Given the description of an element on the screen output the (x, y) to click on. 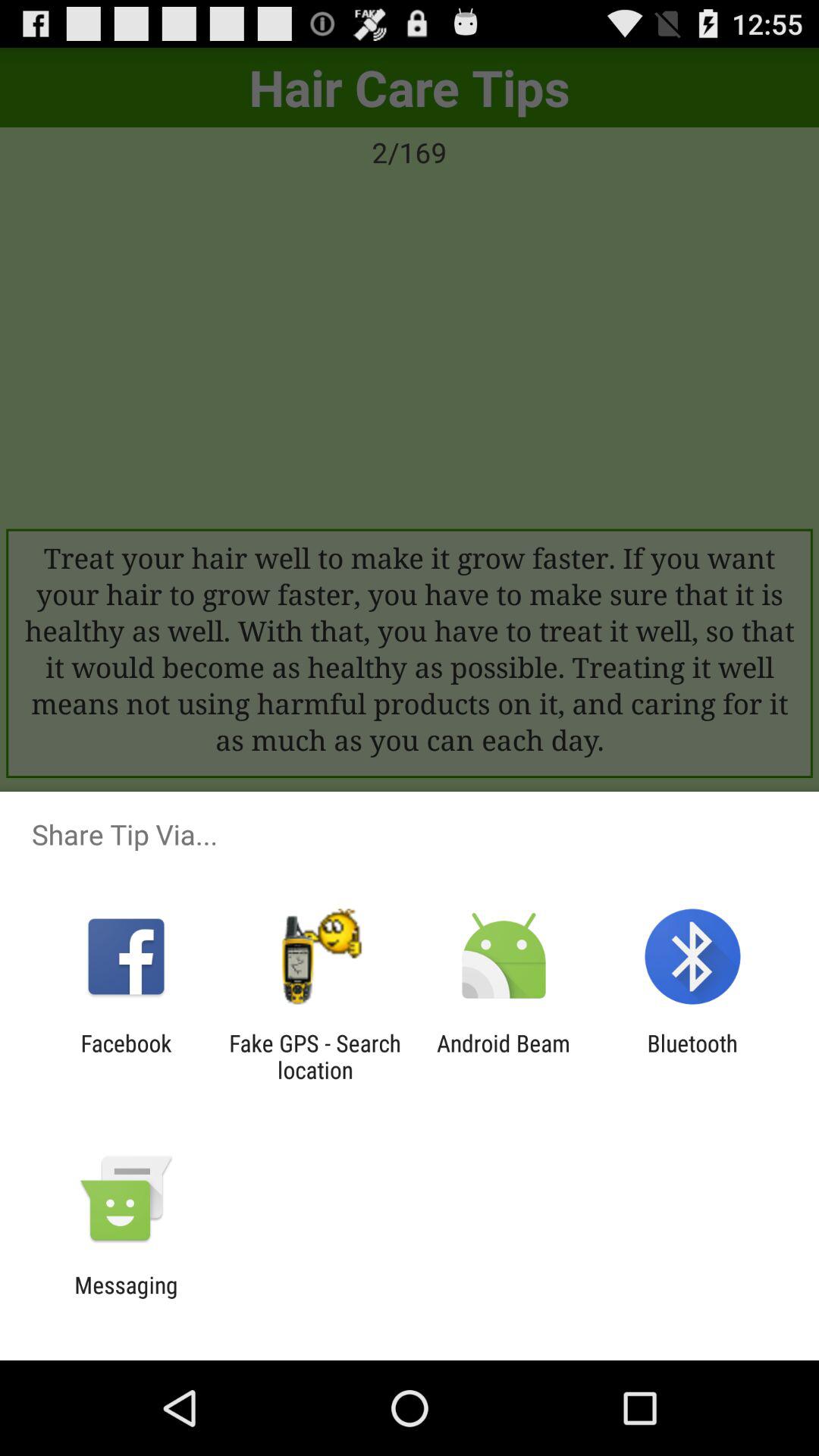
click the messaging icon (126, 1298)
